Given the description of an element on the screen output the (x, y) to click on. 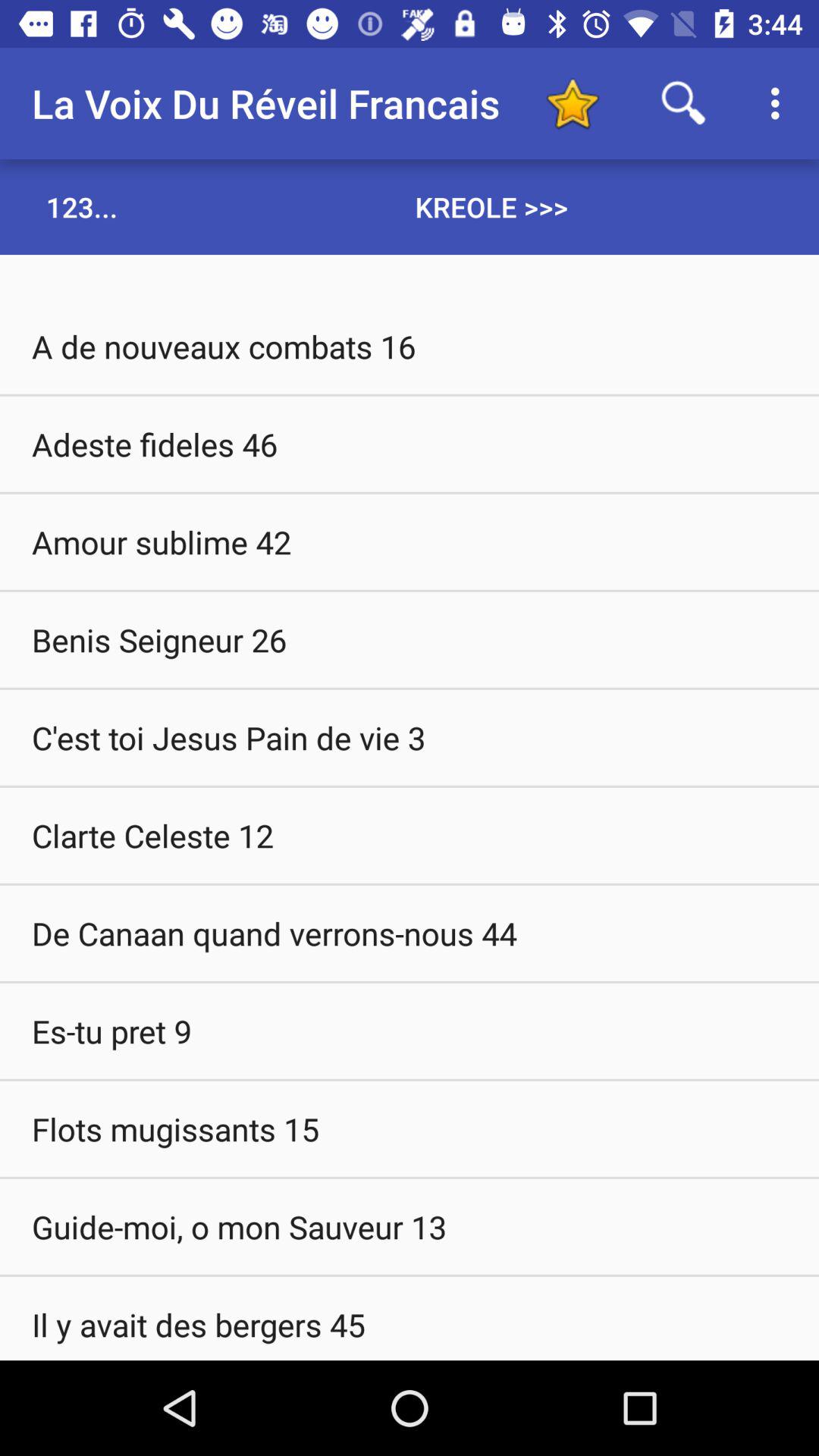
mark as favorite (571, 103)
